Given the description of an element on the screen output the (x, y) to click on. 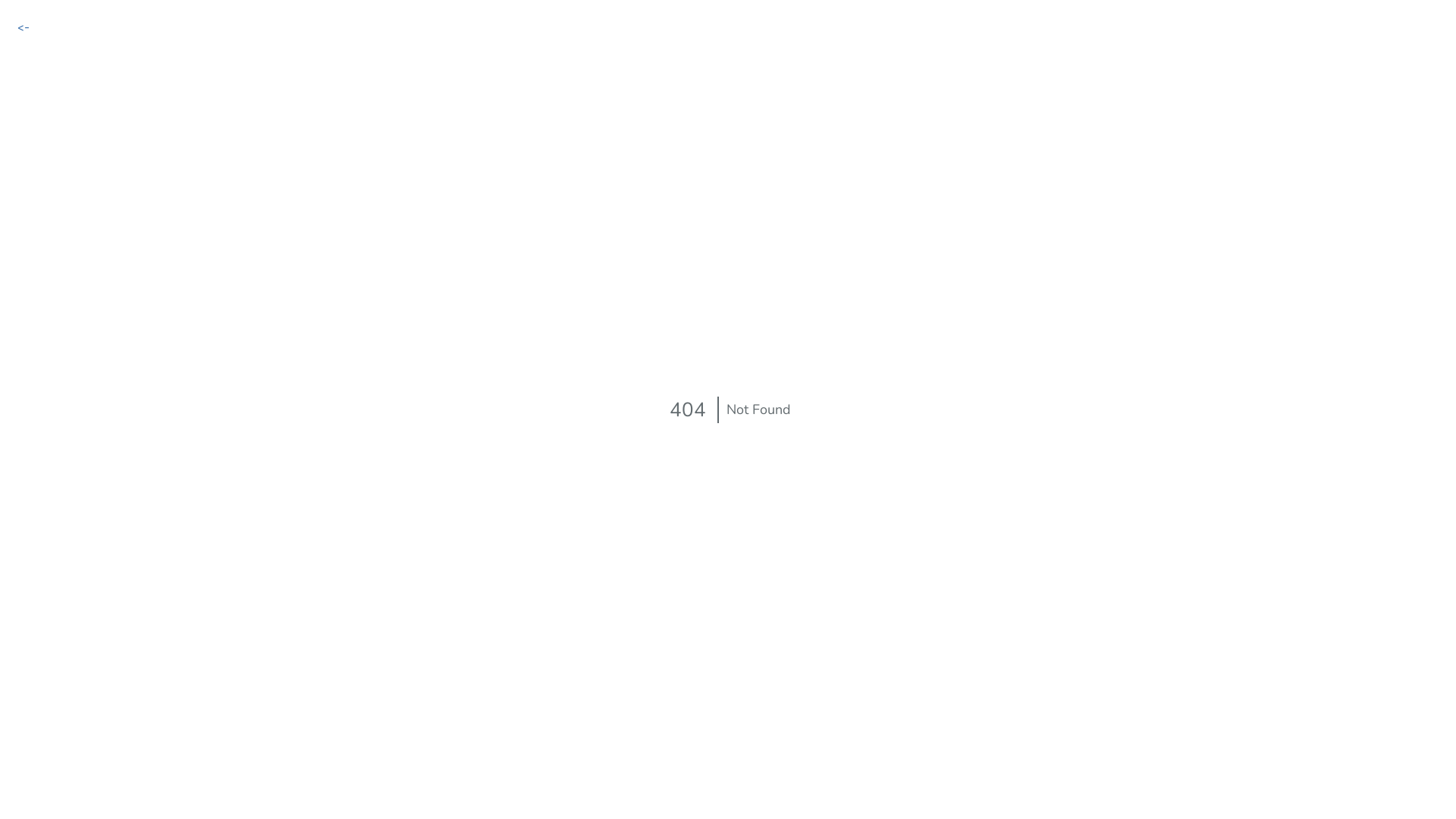
<- Element type: text (23, 26)
